Given the description of an element on the screen output the (x, y) to click on. 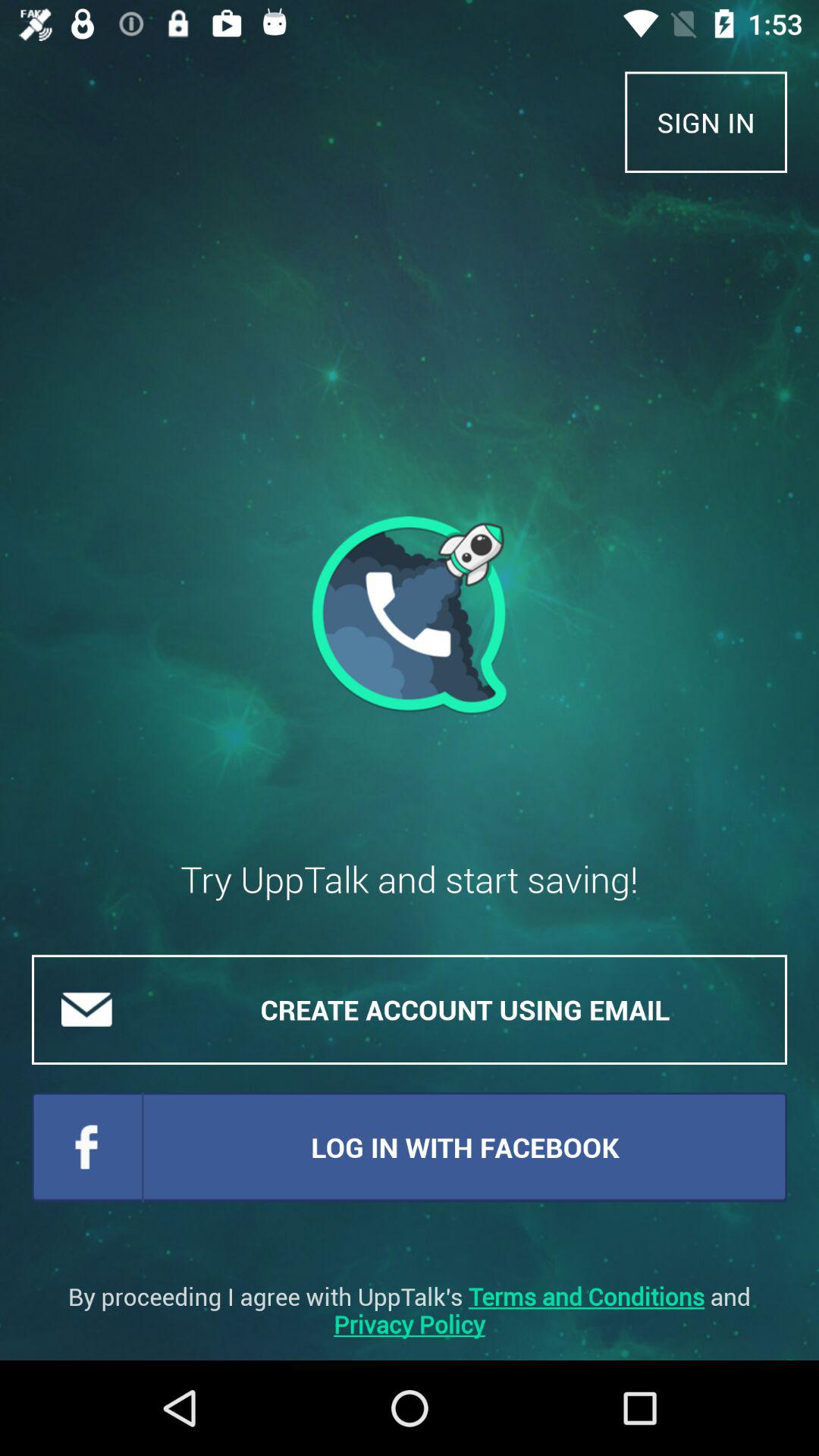
turn on the sign in (706, 121)
